Given the description of an element on the screen output the (x, y) to click on. 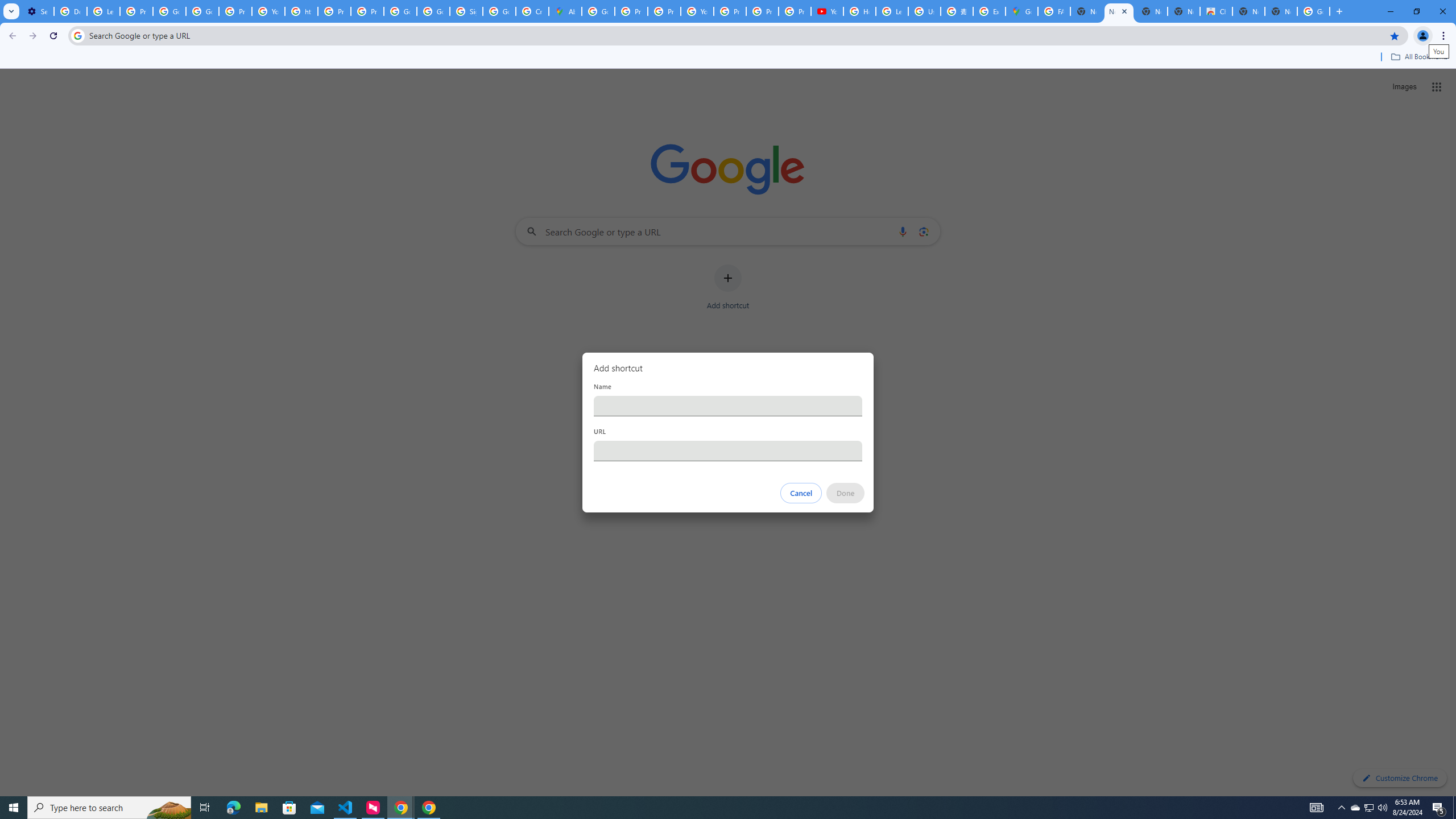
Settings - On startup (37, 11)
YouTube (697, 11)
Privacy Checkup (794, 11)
Privacy Checkup (762, 11)
New Tab (1281, 11)
URL (727, 450)
Sign in - Google Accounts (465, 11)
